Given the description of an element on the screen output the (x, y) to click on. 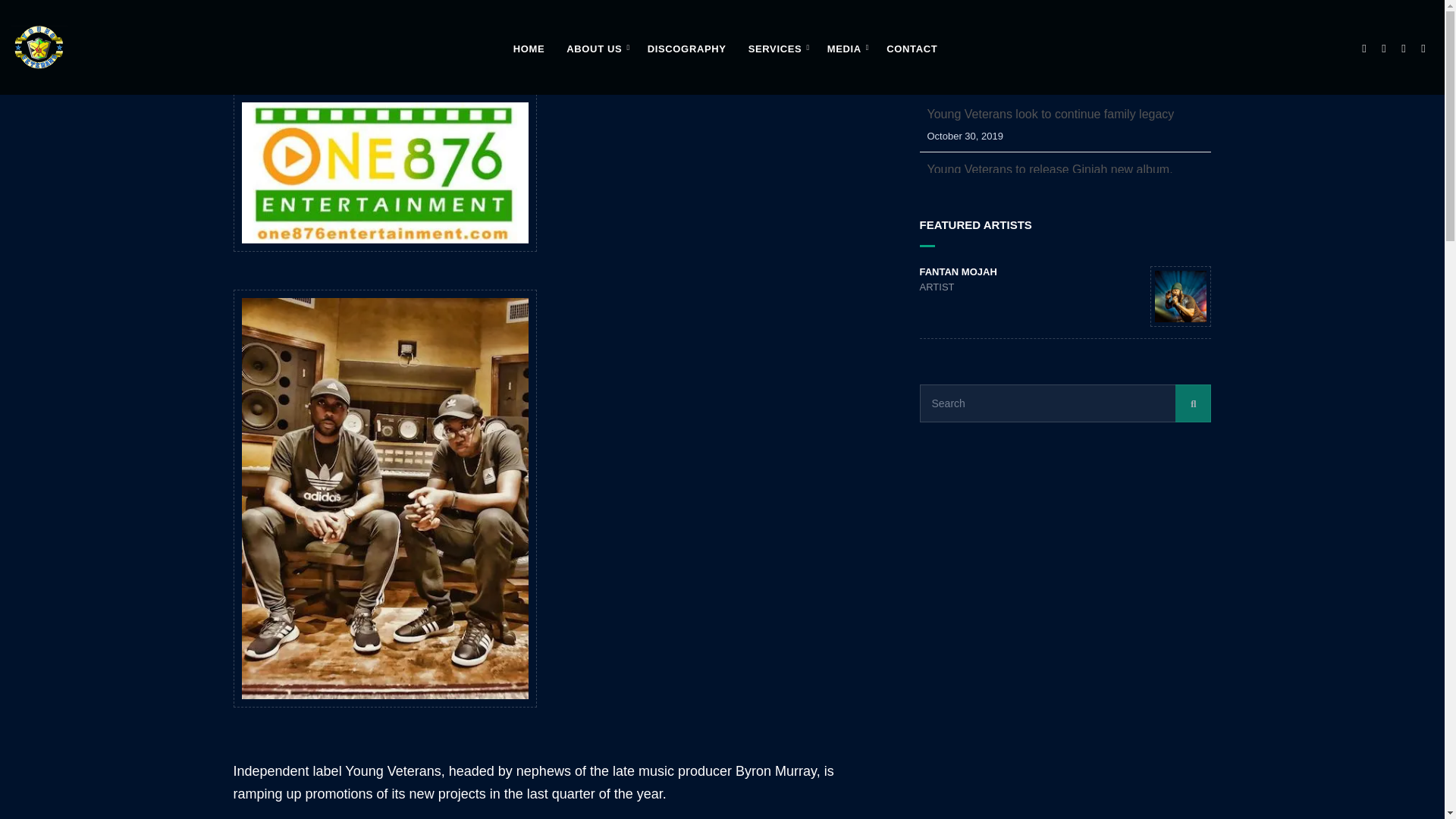
ABOUT US (595, 49)
SERVICES (776, 49)
MEDIA (845, 49)
DISCOGRAPHY (686, 49)
HOME (528, 49)
